Given the description of an element on the screen output the (x, y) to click on. 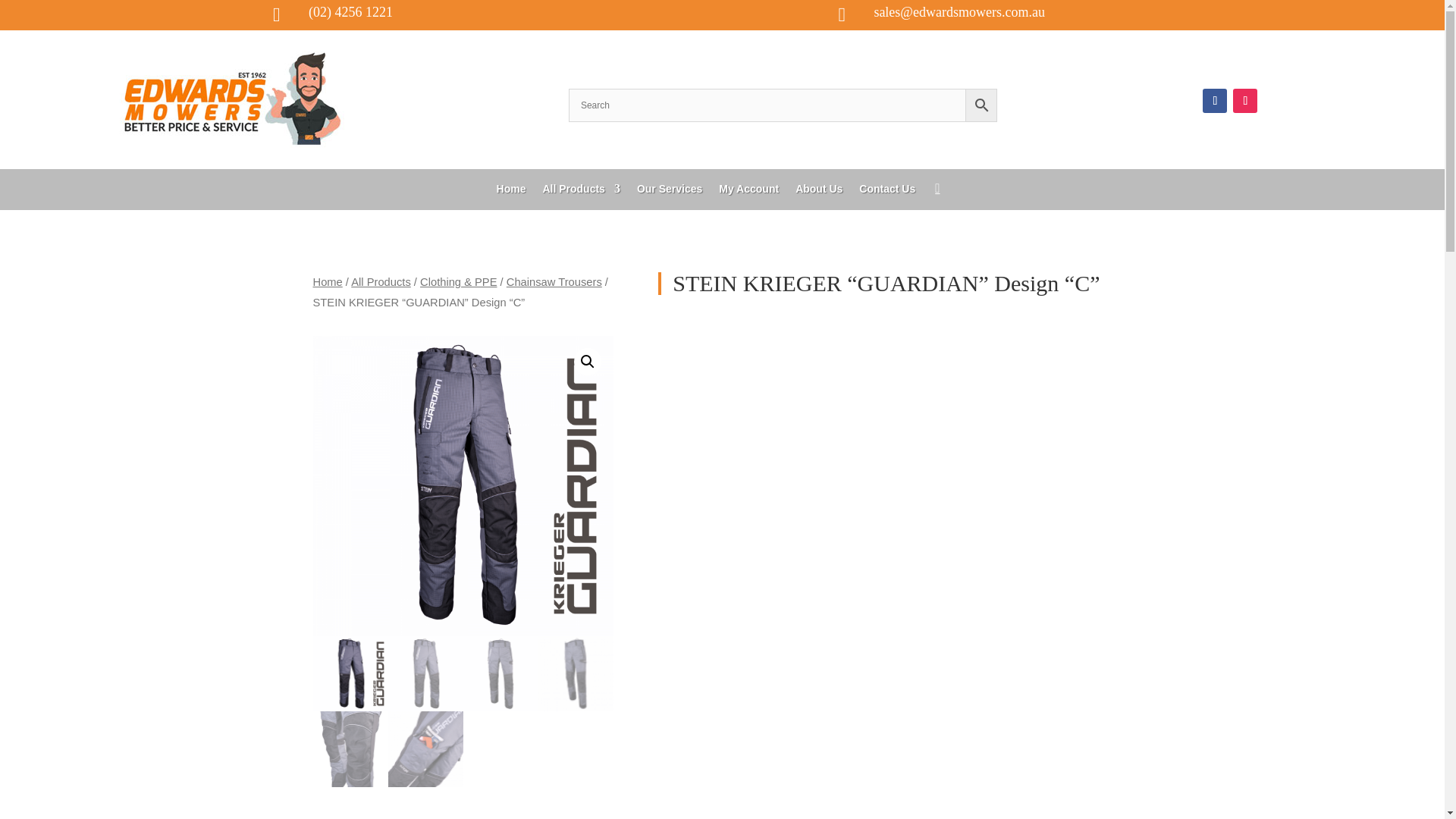
PANTS32 (763, 485)
Follow on Instagram (1245, 100)
Home (510, 191)
logo (233, 99)
Our Services (669, 191)
Follow on Facebook (1214, 100)
PANTS31 (462, 485)
All Products (580, 191)
